Given the description of an element on the screen output the (x, y) to click on. 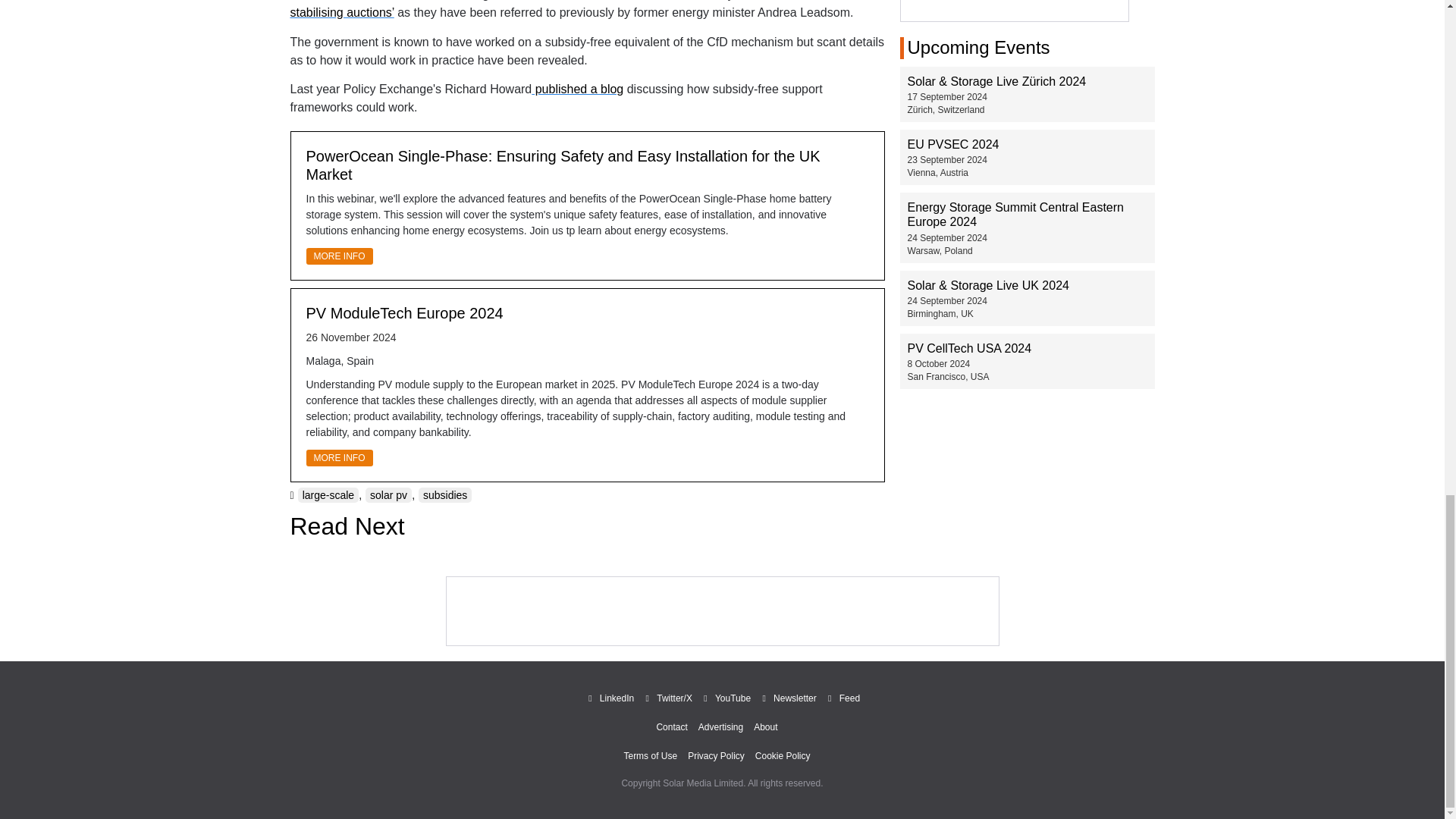
MORE INFO (338, 256)
solar pv (388, 494)
MORE INFO (338, 457)
3rd party ad content (1014, 10)
PV ModuleTech Europe 2024 (404, 312)
large-scale (328, 494)
3rd party ad content (721, 611)
published a blog (577, 88)
